Given the description of an element on the screen output the (x, y) to click on. 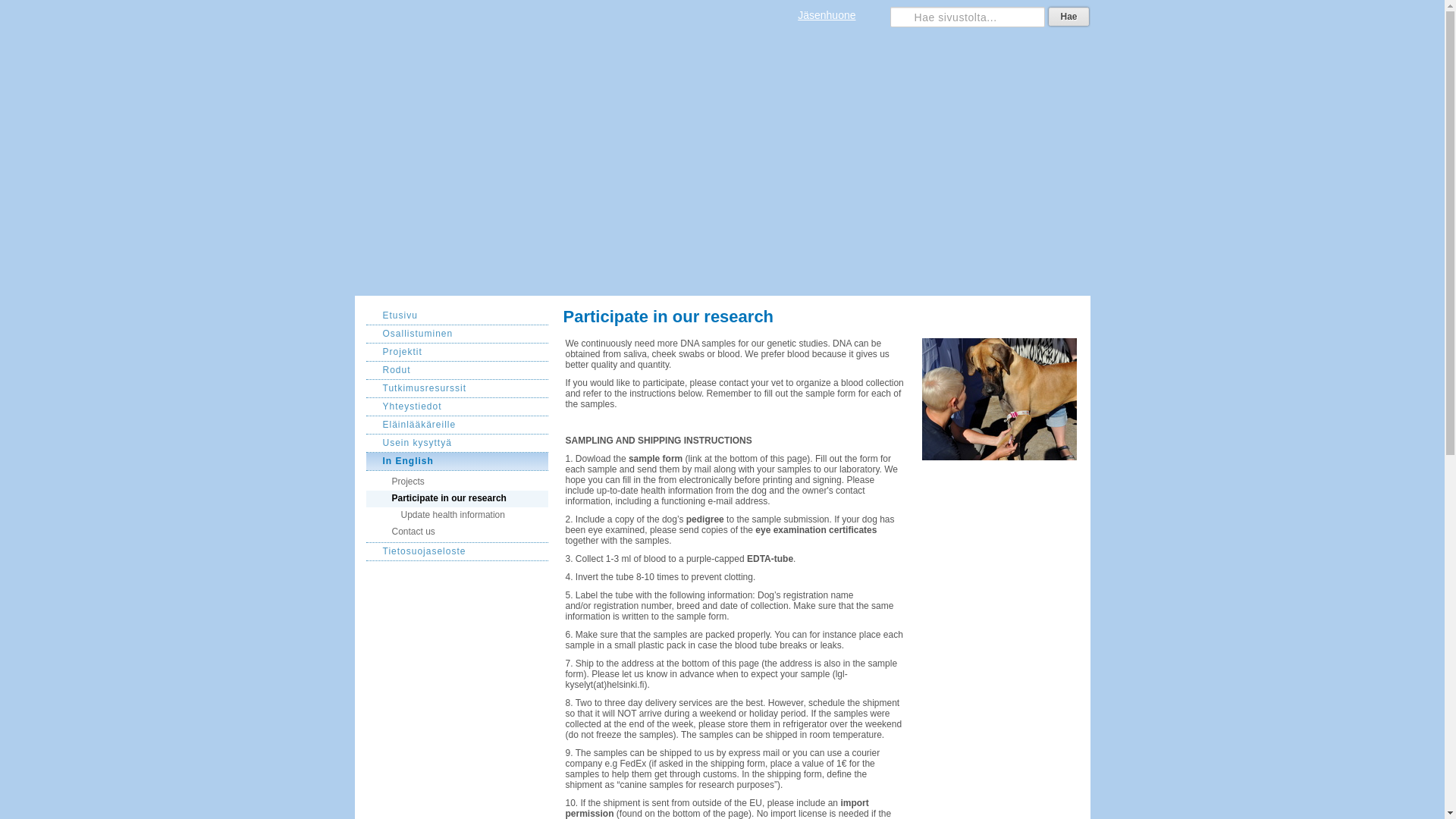
Etusivu (456, 316)
Participate in our research (456, 498)
Yhteystiedot (456, 407)
Hae sivustolta... (967, 16)
Hae (1067, 16)
Projektit (456, 352)
Rodut (456, 370)
Osallistuminen (456, 334)
In English (456, 461)
Tietosuojaseloste (456, 551)
